Given the description of an element on the screen output the (x, y) to click on. 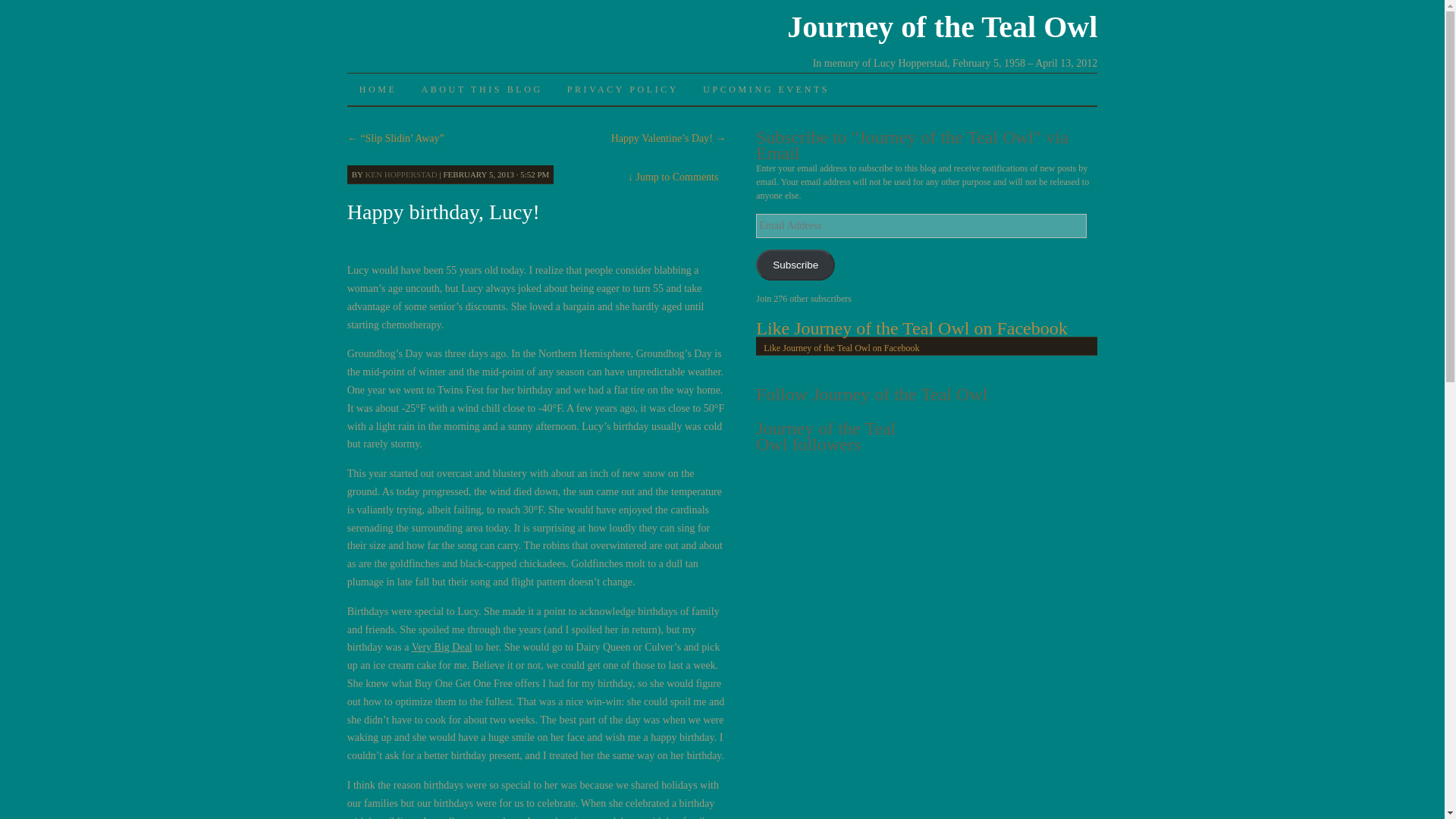
Journey of the Teal Owl (942, 26)
Like Journey of the Teal Owl on Facebook (840, 347)
PRIVACY POLICY (622, 89)
UPCOMING EVENTS (765, 89)
HOME (378, 89)
Subscribe (794, 264)
Happy birthday, Lucy! (443, 211)
View all posts by Ken Hopperstad (400, 174)
KEN HOPPERSTAD (400, 174)
ABOUT THIS BLOG (481, 89)
